Given the description of an element on the screen output the (x, y) to click on. 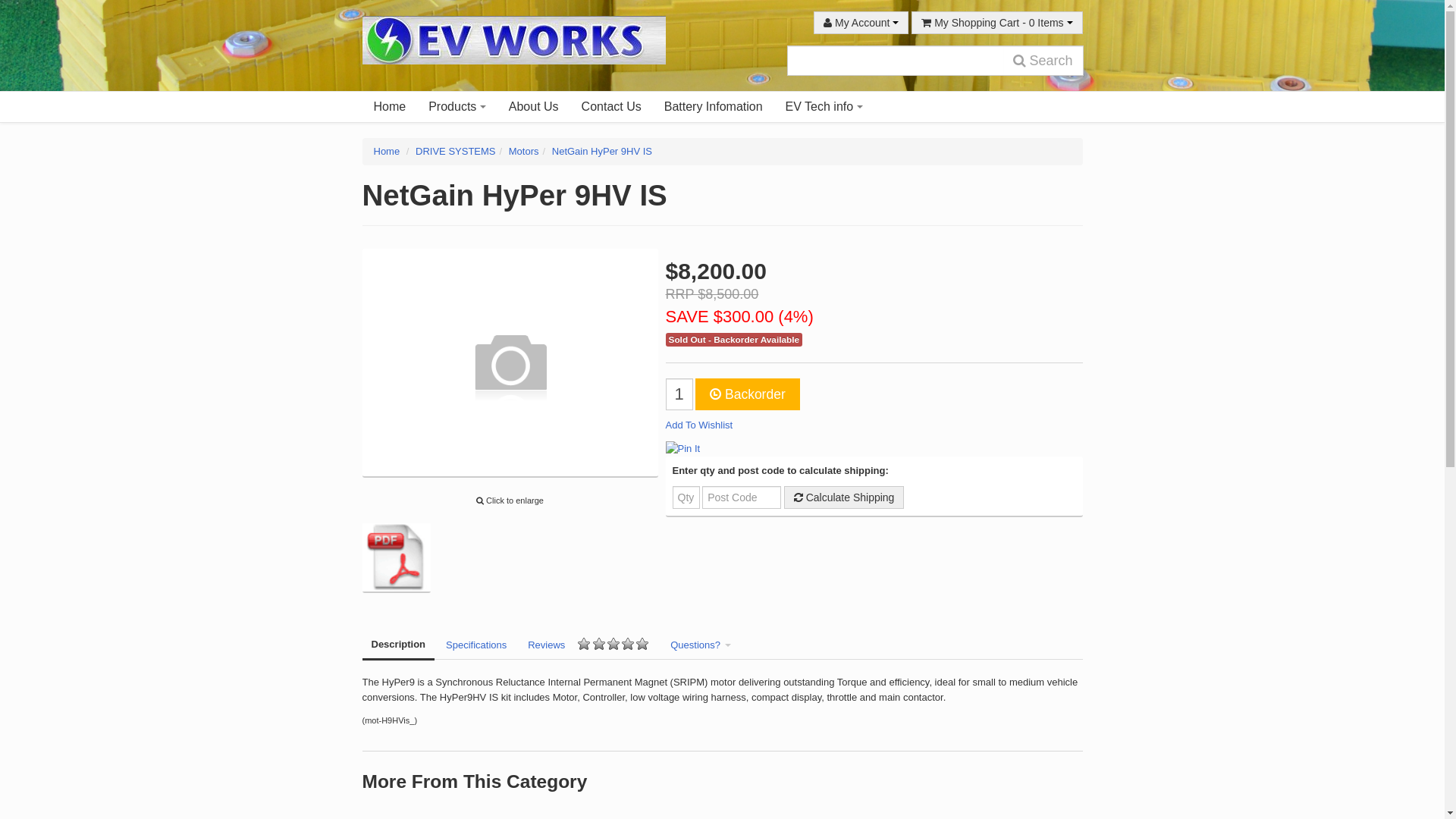
EV Tech info Element type: text (824, 106)
Questions? Element type: text (700, 644)
Motors Element type: text (523, 150)
Calculate Shipping Element type: text (844, 497)
Home Element type: text (386, 150)
Contact Us Element type: text (611, 106)
Search Element type: text (1042, 60)
Battery Infomation Element type: text (713, 106)
Pin It Element type: hover (682, 448)
Products Element type: text (457, 106)
Specifications Element type: text (476, 644)
My Account Element type: text (860, 22)
NetGain HyPer 9HV IS Element type: text (602, 150)
Reviews Element type: text (587, 644)
Description Element type: text (398, 645)
My Shopping Cart - 0 Items Element type: text (996, 22)
About Us Element type: text (533, 106)
DRIVE SYSTEMS Element type: text (455, 150)
Home Element type: text (389, 106)
Backorder Element type: text (747, 394)
Add To Wishlist Element type: text (699, 424)
